Given the description of an element on the screen output the (x, y) to click on. 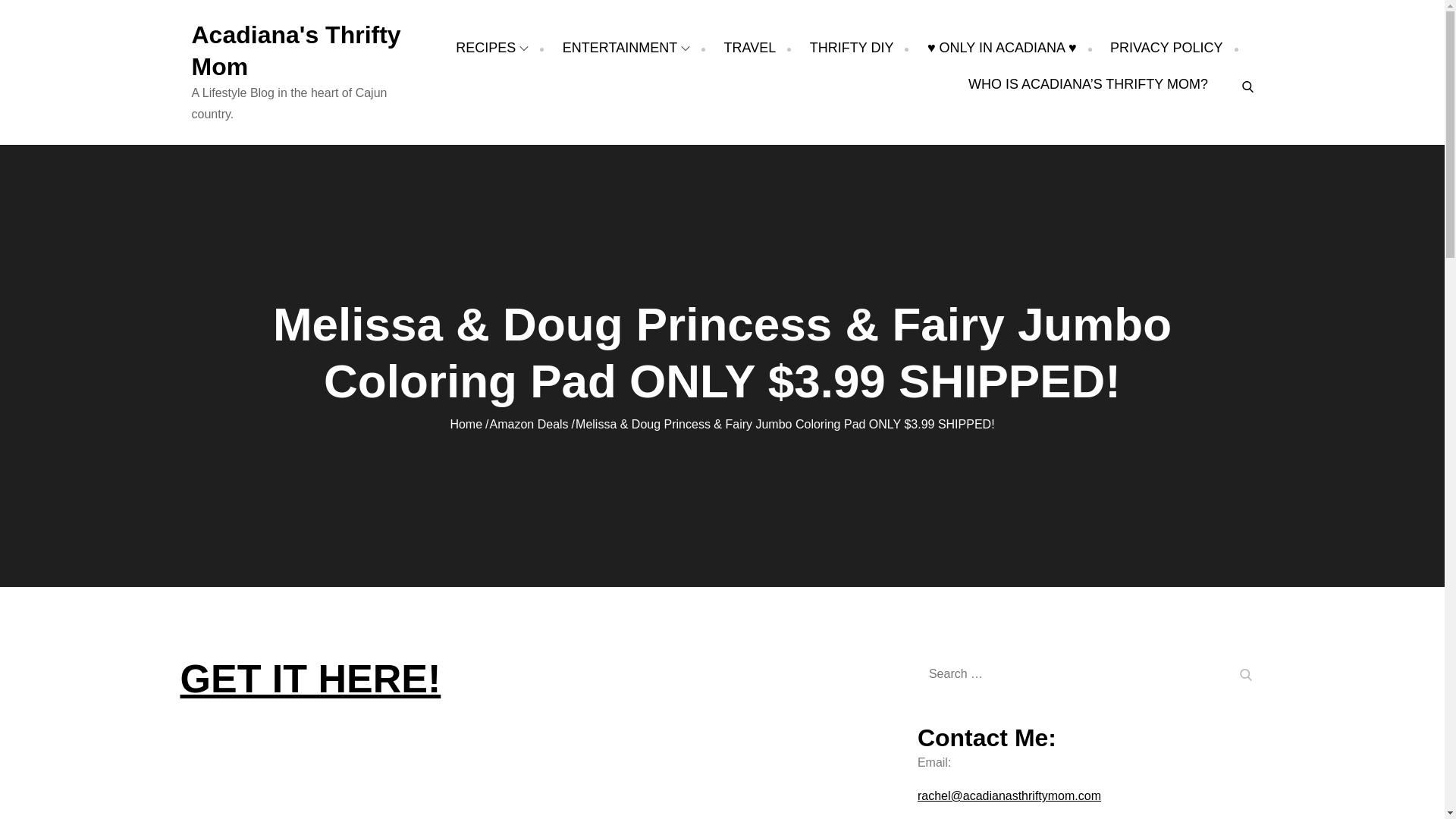
ENTERTAINMENT (626, 47)
PRIVACY POLICY (1166, 47)
THRIFTY DIY (851, 47)
Acadiana's Thrifty Mom (295, 50)
TRAVEL (749, 47)
RECIPES (491, 47)
